Given the description of an element on the screen output the (x, y) to click on. 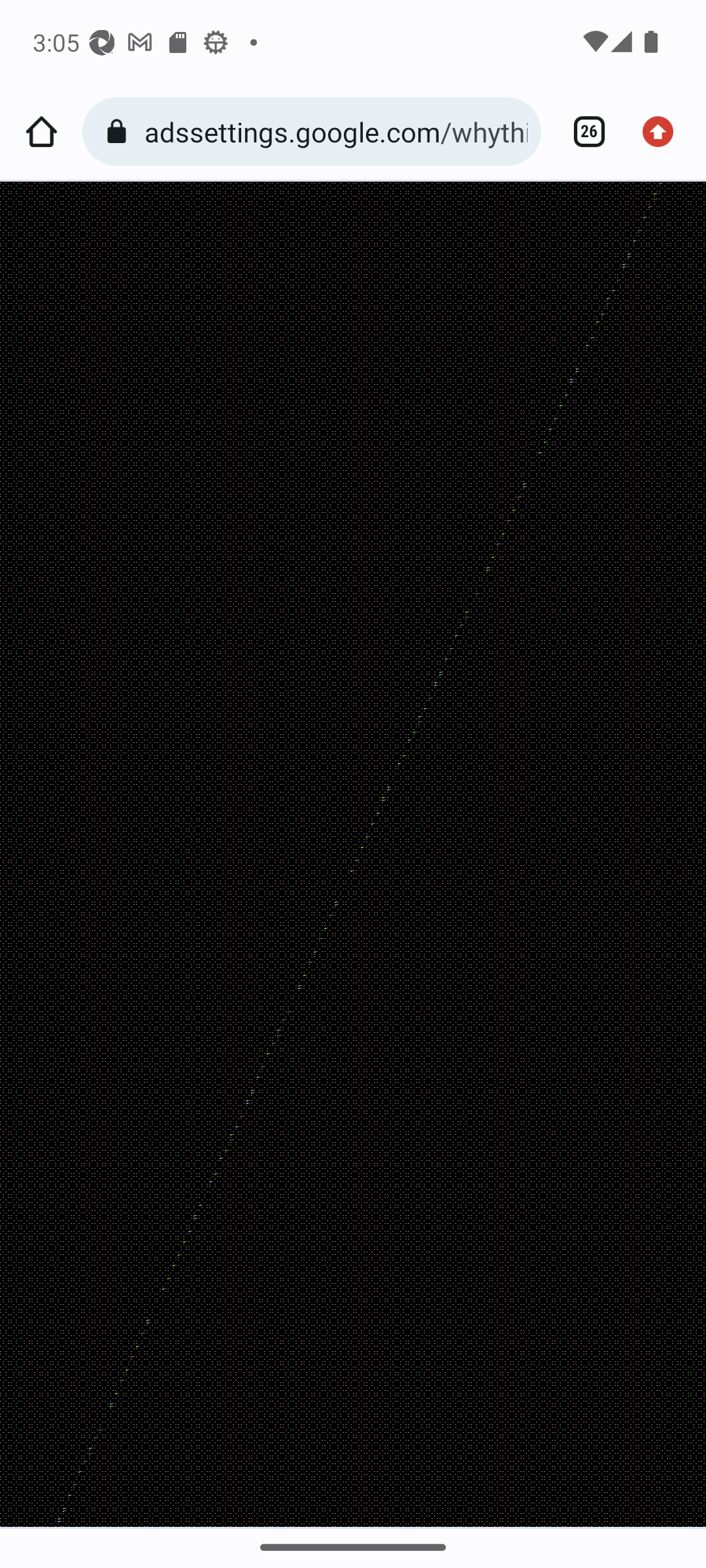
Home (41, 131)
Connection is secure (120, 131)
Switch or close tabs (582, 131)
Update available. More options (664, 131)
adssettings.google.com/whythisad (335, 131)
